Given the description of an element on the screen output the (x, y) to click on. 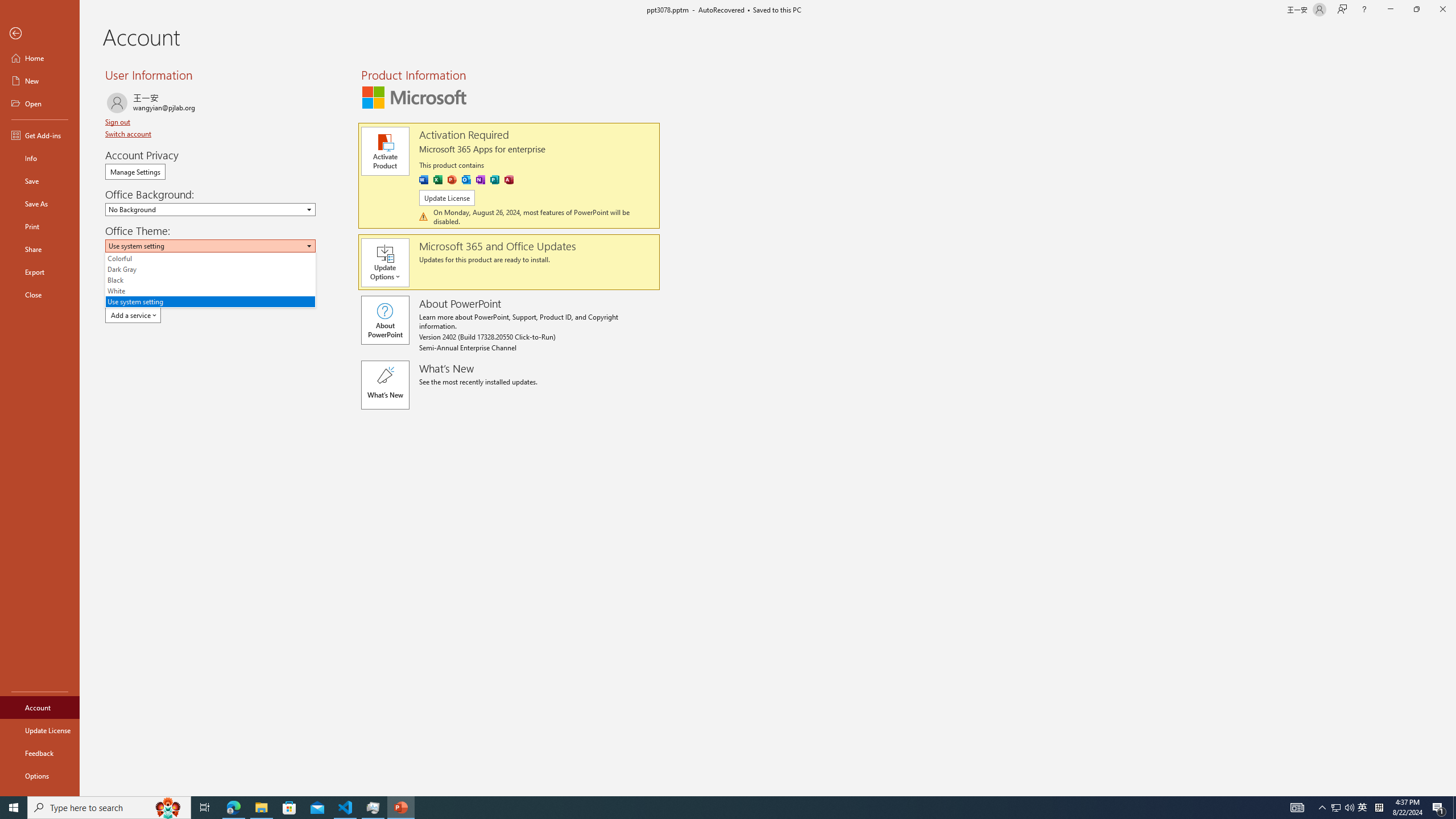
New (40, 80)
Tray Input Indicator - Chinese (Simplified, China) (1378, 807)
Word (423, 179)
Notification Chevron (1322, 807)
Manage Settings (134, 171)
Access (508, 179)
Options (40, 775)
